Given the description of an element on the screen output the (x, y) to click on. 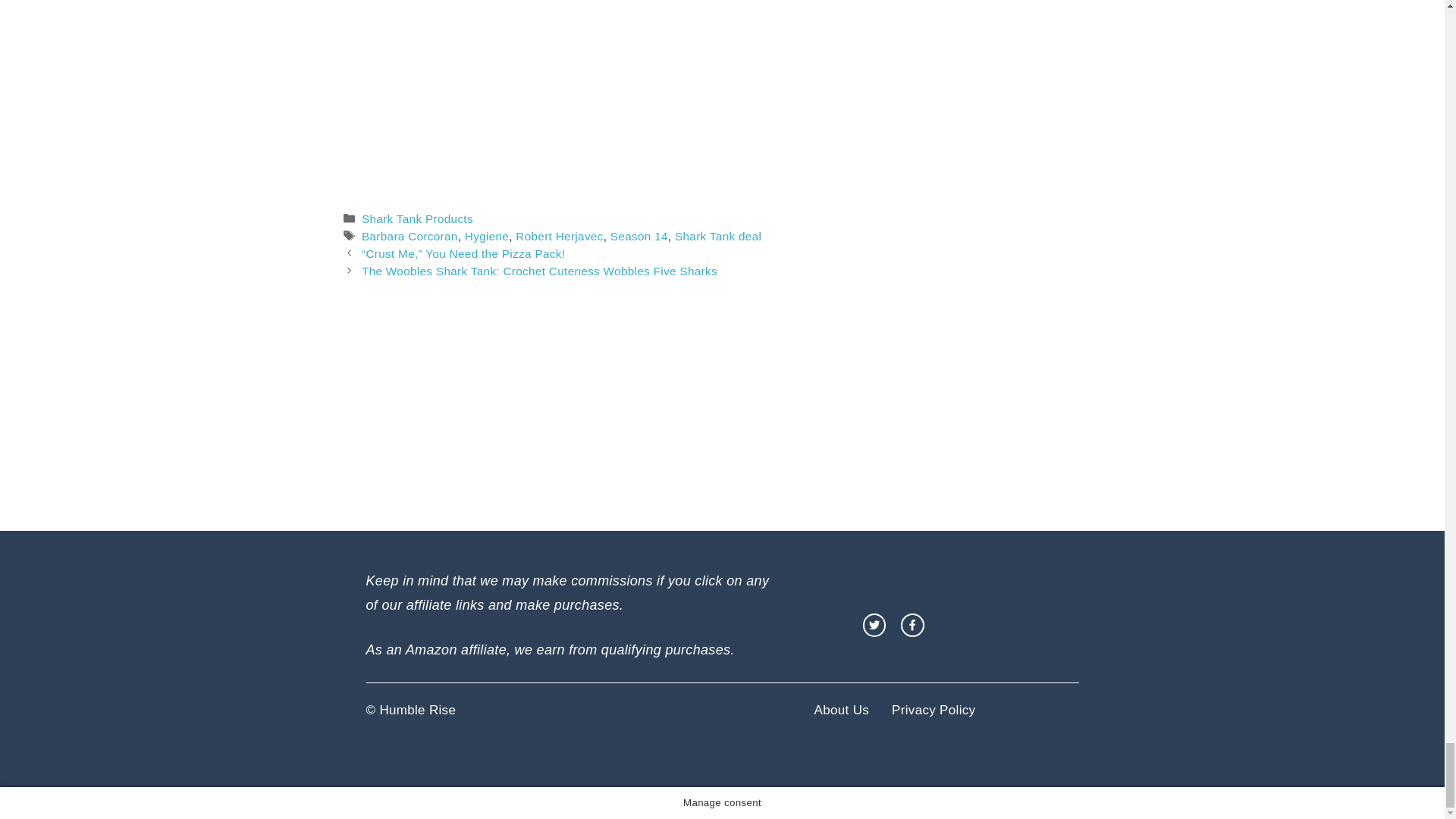
The Woobles Shark Tank: Crochet Cuteness Wobbles Five Sharks (539, 270)
Hygiene (486, 236)
Barbara Corcoran (409, 236)
Robert Herjavec (558, 236)
Shark Tank Products (417, 218)
Shark Tank deal (718, 236)
Season 14 (639, 236)
